Given the description of an element on the screen output the (x, y) to click on. 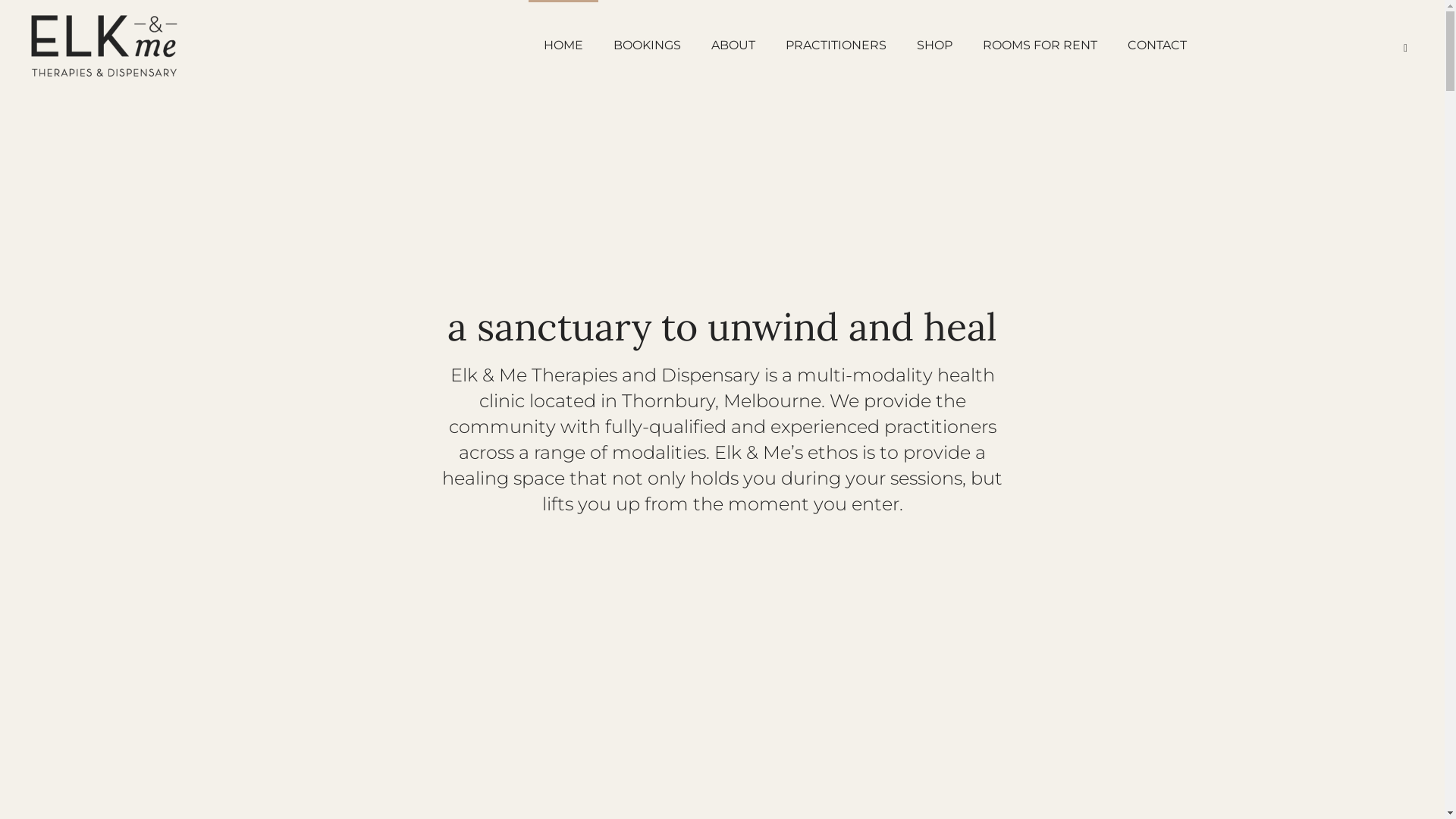
BOOKINGS Element type: text (647, 45)
ABOUT Element type: text (733, 45)
HOME Element type: text (563, 45)
ROOMS FOR RENT Element type: text (1039, 45)
SHOP Element type: text (934, 45)
PRACTITIONERS Element type: text (835, 45)
CONTACT Element type: text (1156, 45)
